Given the description of an element on the screen output the (x, y) to click on. 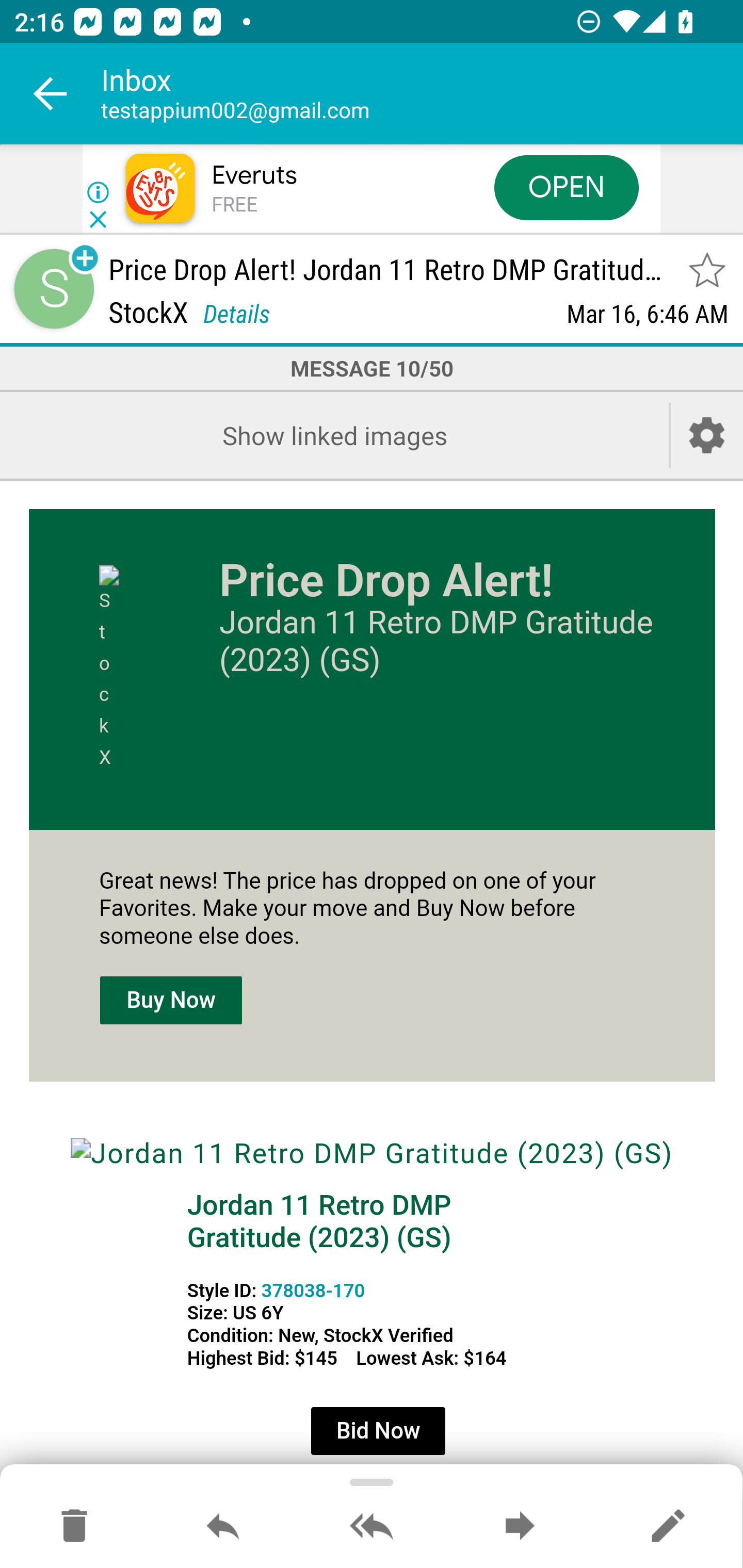
Navigate up (50, 93)
Inbox testappium002@gmail.com (422, 93)
OPEN (566, 187)
Everuts (253, 175)
FREE (234, 204)
Sender contact button (53, 289)
Show linked images (334, 435)
Account setup (706, 435)
StockX (130, 669)
Buy Now (170, 1000)
Jordan 11 Retro DMP Gratitude (2023) (GS) (371, 1153)
Jordan 11 Retro DMP Gratitude (2023) (GS) (319, 1221)
378038-170 (313, 1290)
Bid Now (378, 1430)
Move to Deleted (74, 1527)
Reply (222, 1527)
Reply all (371, 1527)
Forward (519, 1527)
Reply as new (667, 1527)
